Given the description of an element on the screen output the (x, y) to click on. 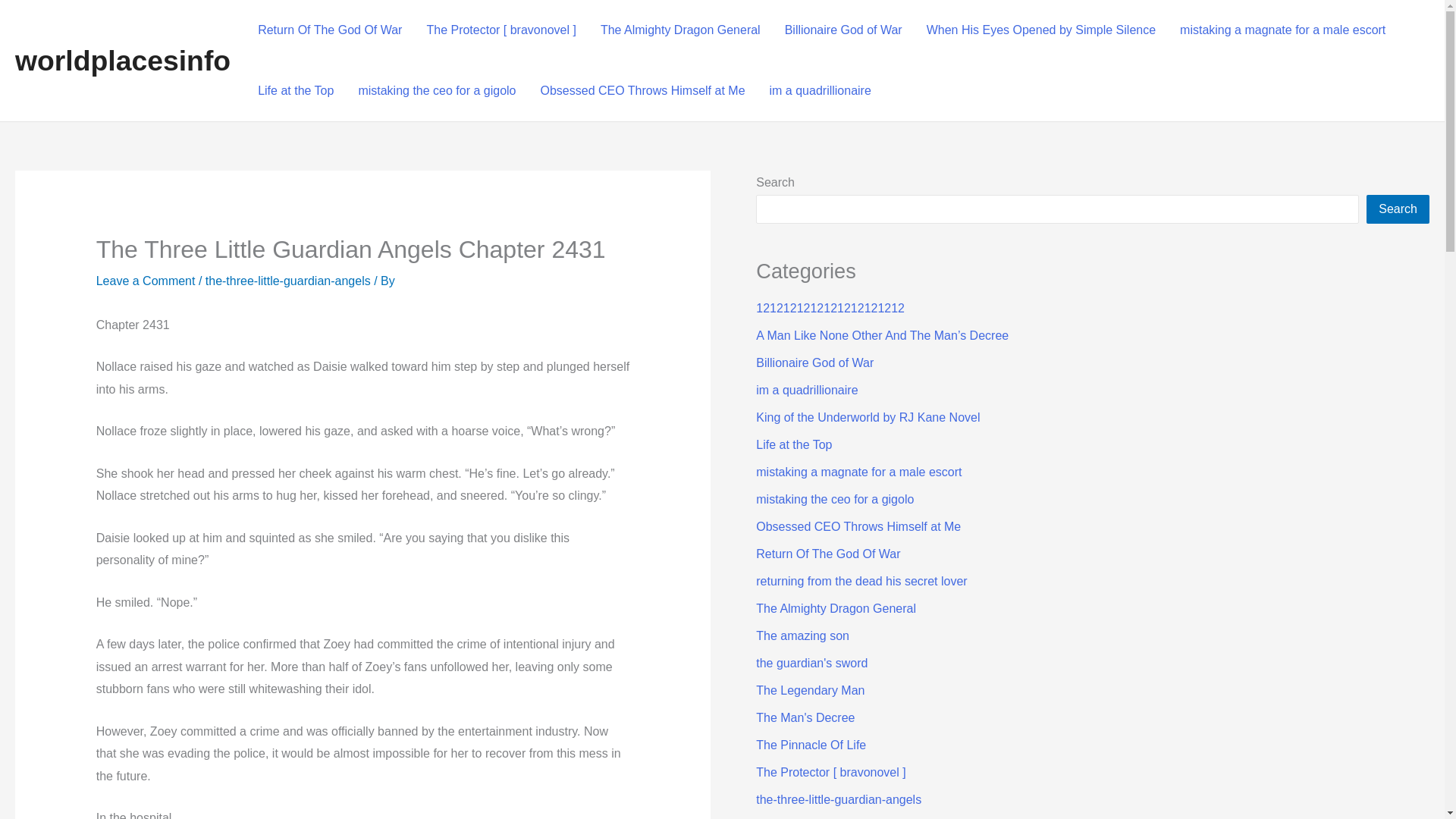
Obsessed CEO Throws Himself at Me (642, 90)
When His Eyes Opened by Simple Silence (1040, 30)
mistaking a magnate for a male escort (1282, 30)
mistaking the ceo for a gigolo (436, 90)
im a quadrillionaire (806, 390)
1212121212121212121212 (829, 308)
Life at the Top (793, 444)
mistaking a magnate for a male escort (857, 472)
the-three-little-guardian-angels (288, 280)
im a quadrillionaire (820, 90)
Leave a Comment (145, 280)
Billionaire God of War (843, 30)
worldplacesinfo (122, 60)
King of the Underworld by RJ Kane Novel (867, 417)
Search (1398, 208)
